Given the description of an element on the screen output the (x, y) to click on. 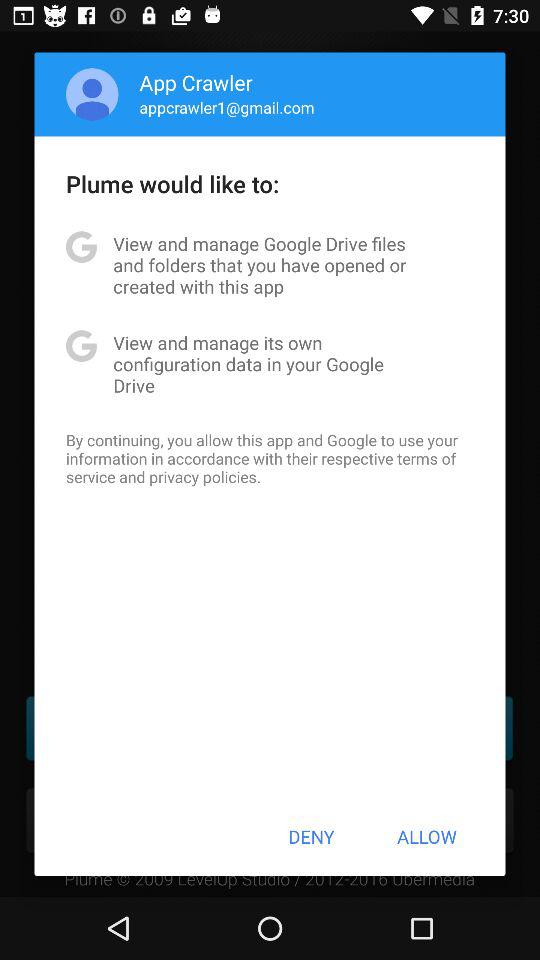
tap icon next to app crawler icon (92, 94)
